Given the description of an element on the screen output the (x, y) to click on. 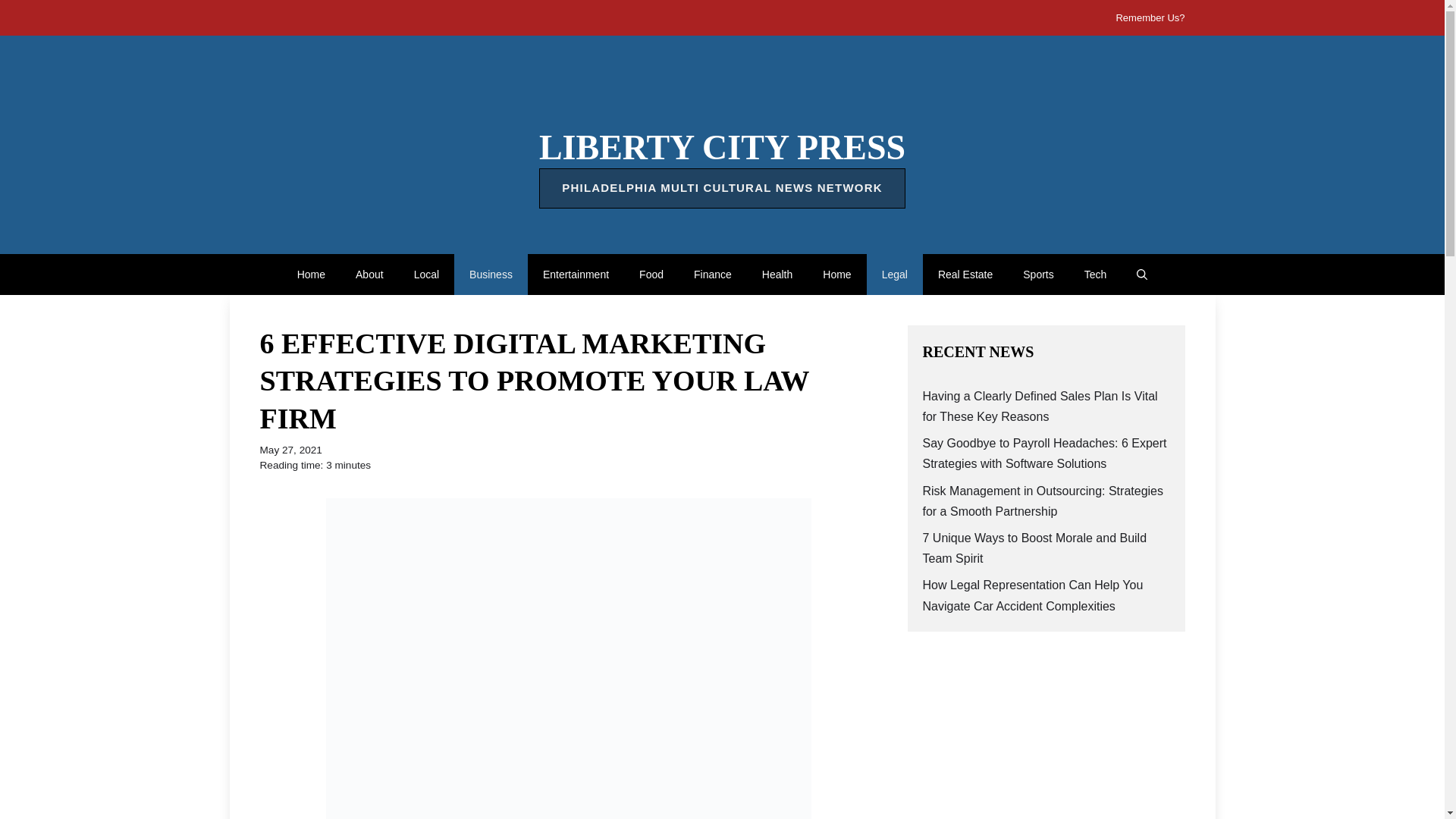
Remember Us? (1150, 17)
Finance (712, 273)
Health (777, 273)
Food (651, 273)
Legal (894, 273)
Home (311, 273)
Business (490, 273)
7 Unique Ways to Boost Morale and Build Team Spirit (1034, 548)
Sports (1037, 273)
